Given the description of an element on the screen output the (x, y) to click on. 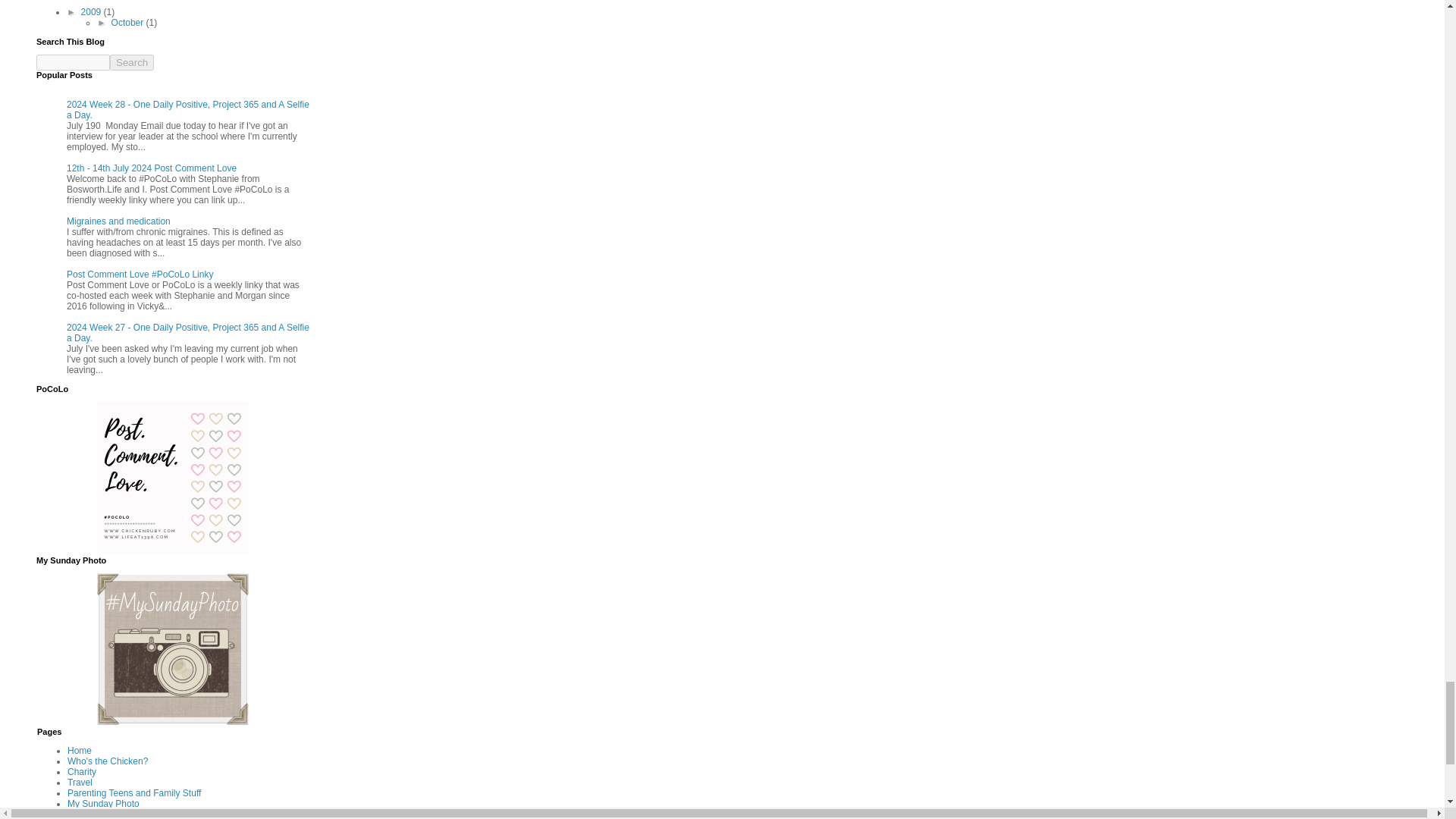
Search (132, 62)
PoCoLo  (172, 550)
search (73, 62)
Search (132, 62)
search (132, 62)
Darren Coleshill (172, 721)
